Given the description of an element on the screen output the (x, y) to click on. 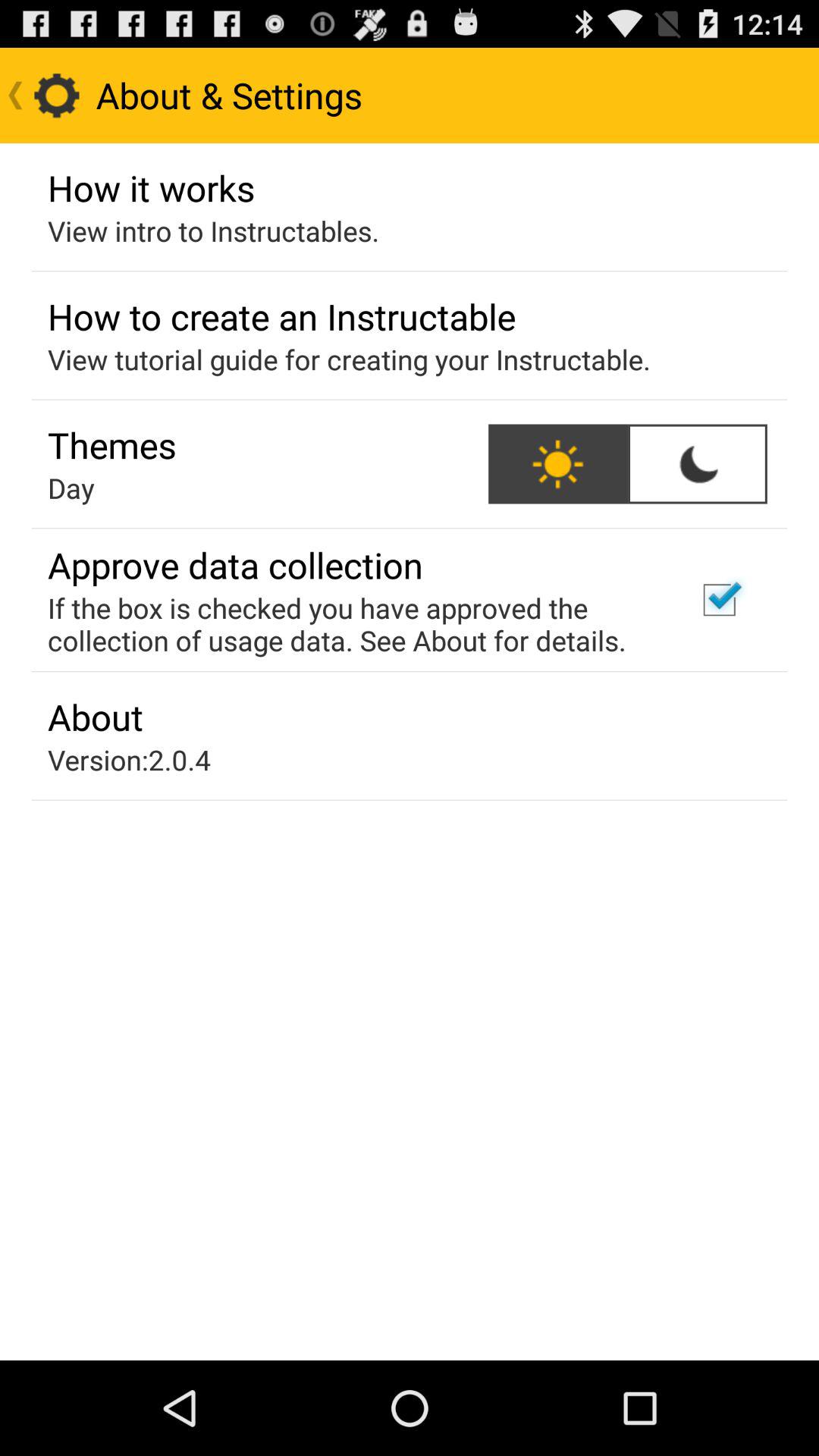
press the item below the themes app (70, 487)
